Given the description of an element on the screen output the (x, y) to click on. 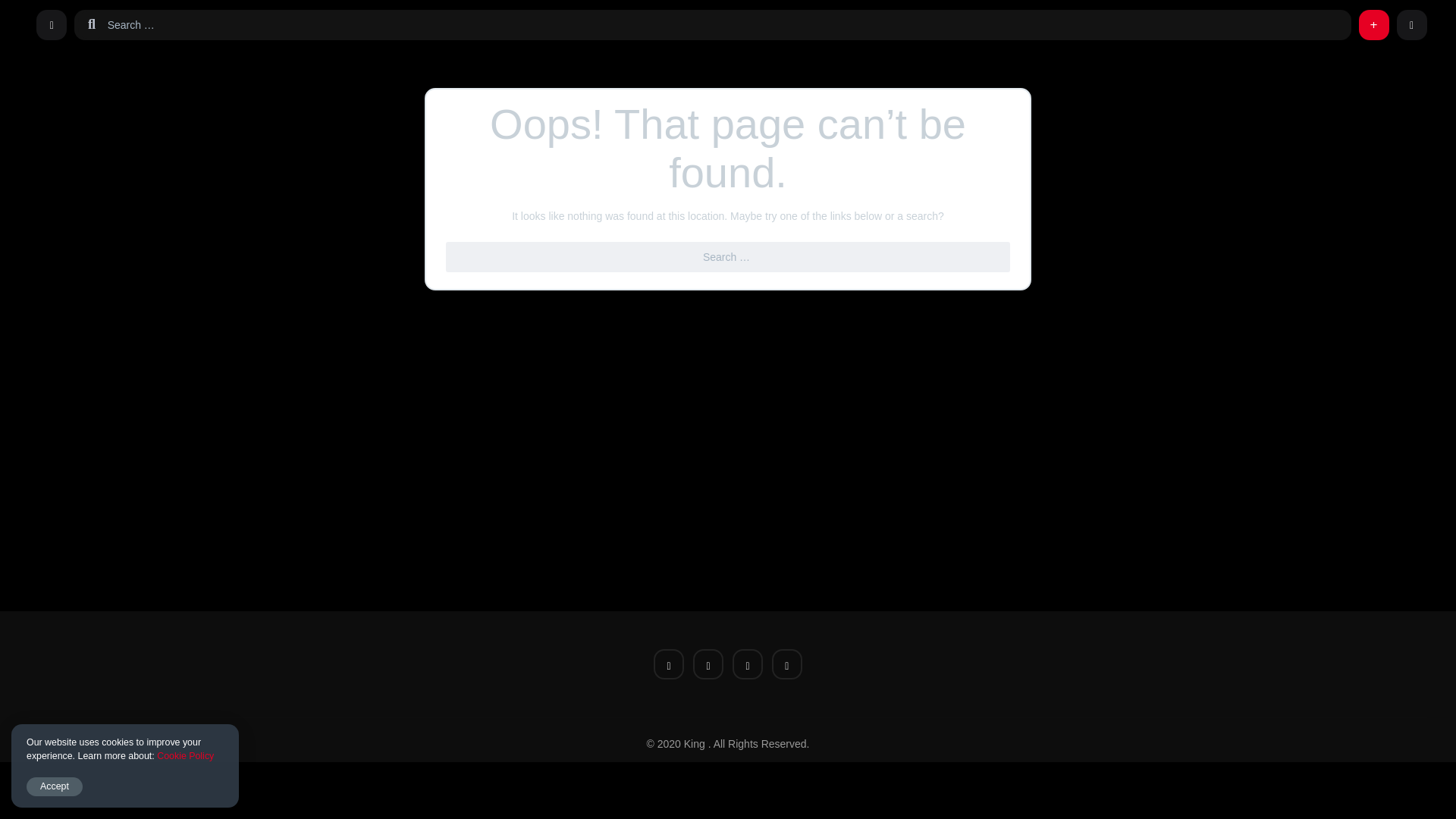
Cookie Policy (185, 756)
Search (21, 9)
Search for: (726, 24)
